Given the description of an element on the screen output the (x, y) to click on. 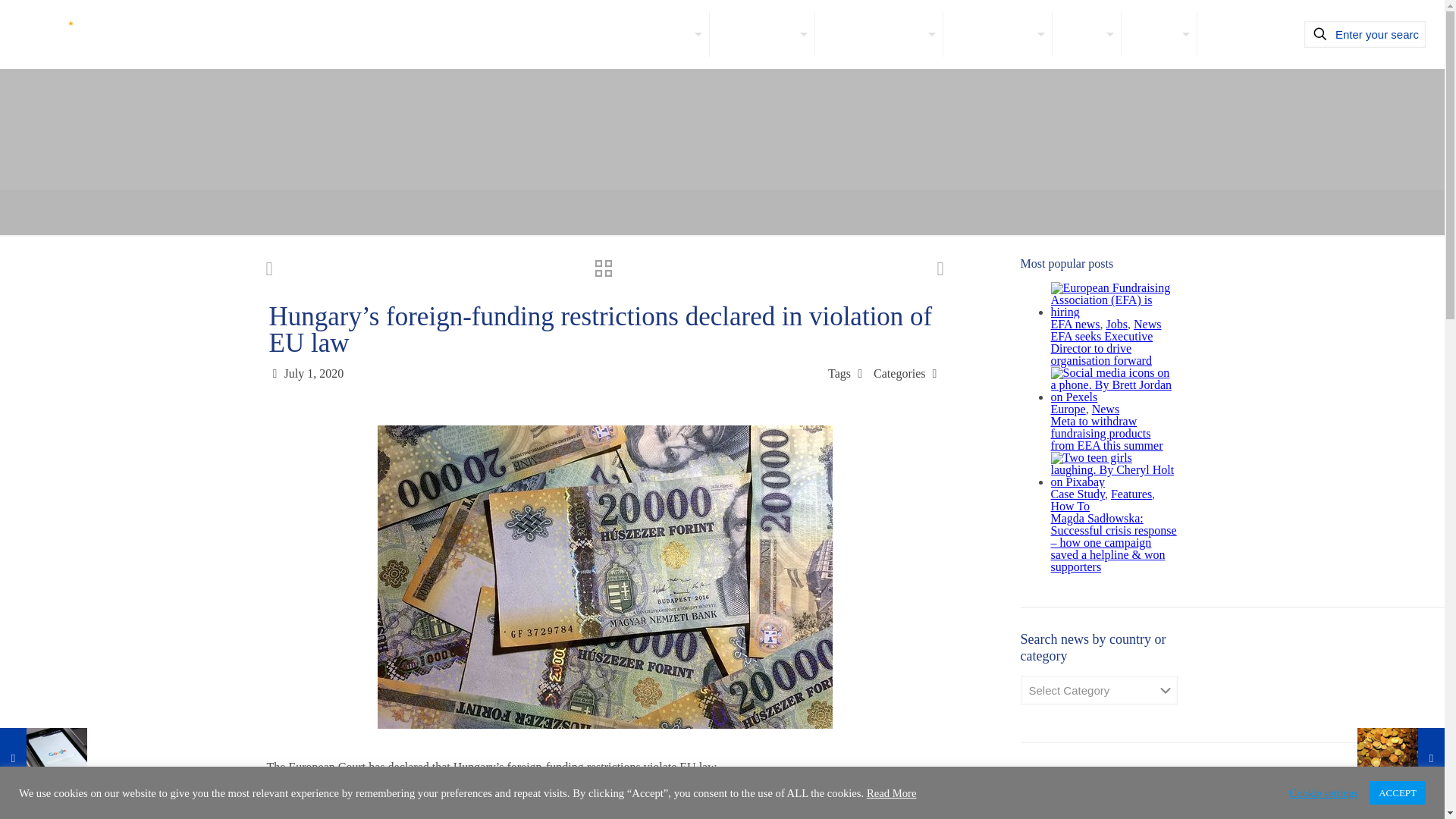
Public Affairs (997, 33)
Facebook (1110, 779)
LinkedIn (1142, 779)
About us (666, 33)
Membership (762, 33)
Events (1158, 33)
News (1086, 33)
EFA Certification (879, 33)
